Given the description of an element on the screen output the (x, y) to click on. 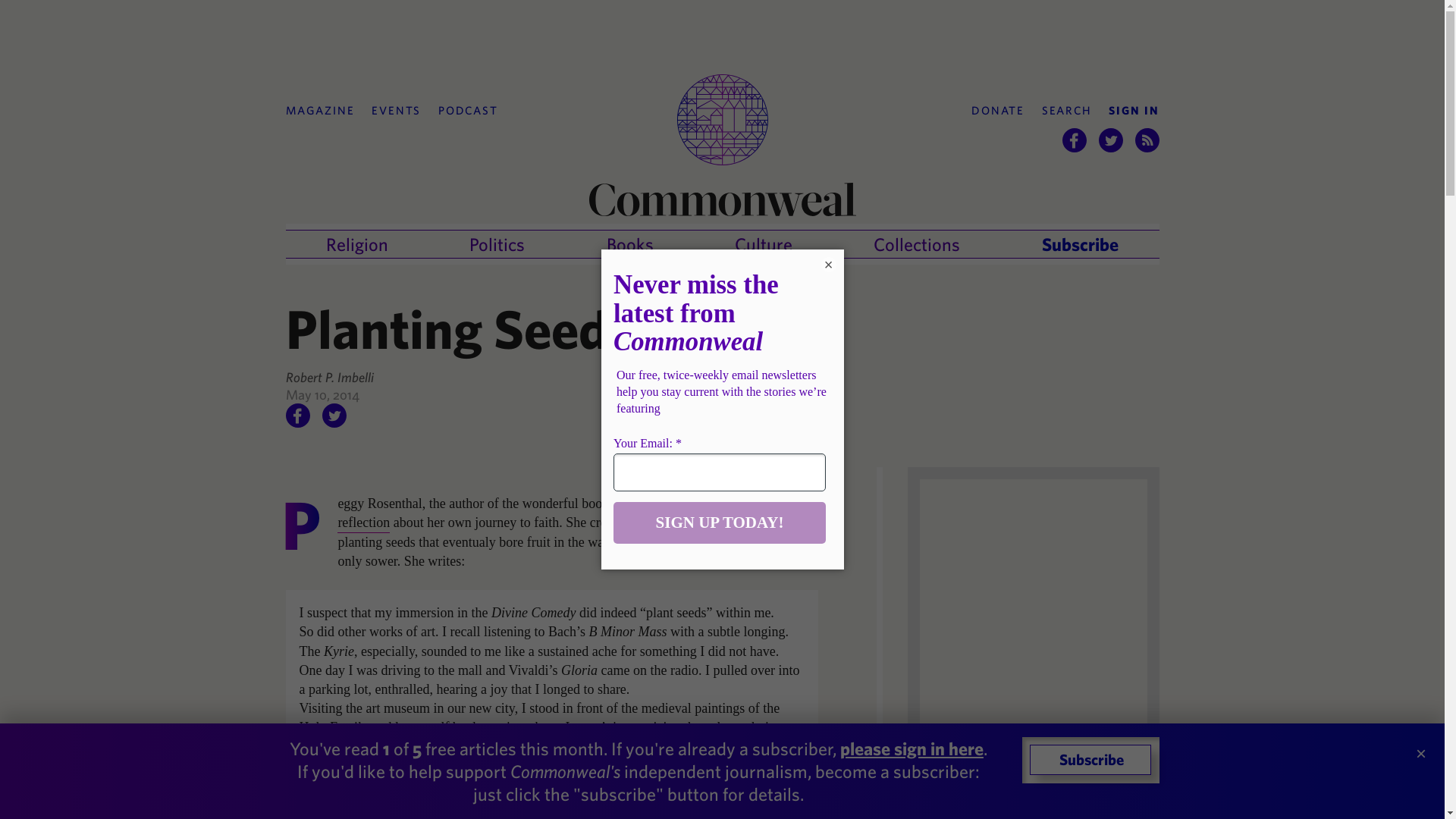
Politics (496, 243)
SIGN IN (1133, 111)
Saturday, May 10, 2014 - 05:35 (321, 394)
reflection (363, 523)
Subscribe (1080, 243)
Religion (357, 243)
MAGAZINE (319, 111)
Culture (763, 243)
Books (630, 243)
DONATE (998, 111)
Collections (916, 243)
SEARCH (1067, 111)
EVENTS (395, 111)
Robert P. Imbelli (328, 376)
